Given the description of an element on the screen output the (x, y) to click on. 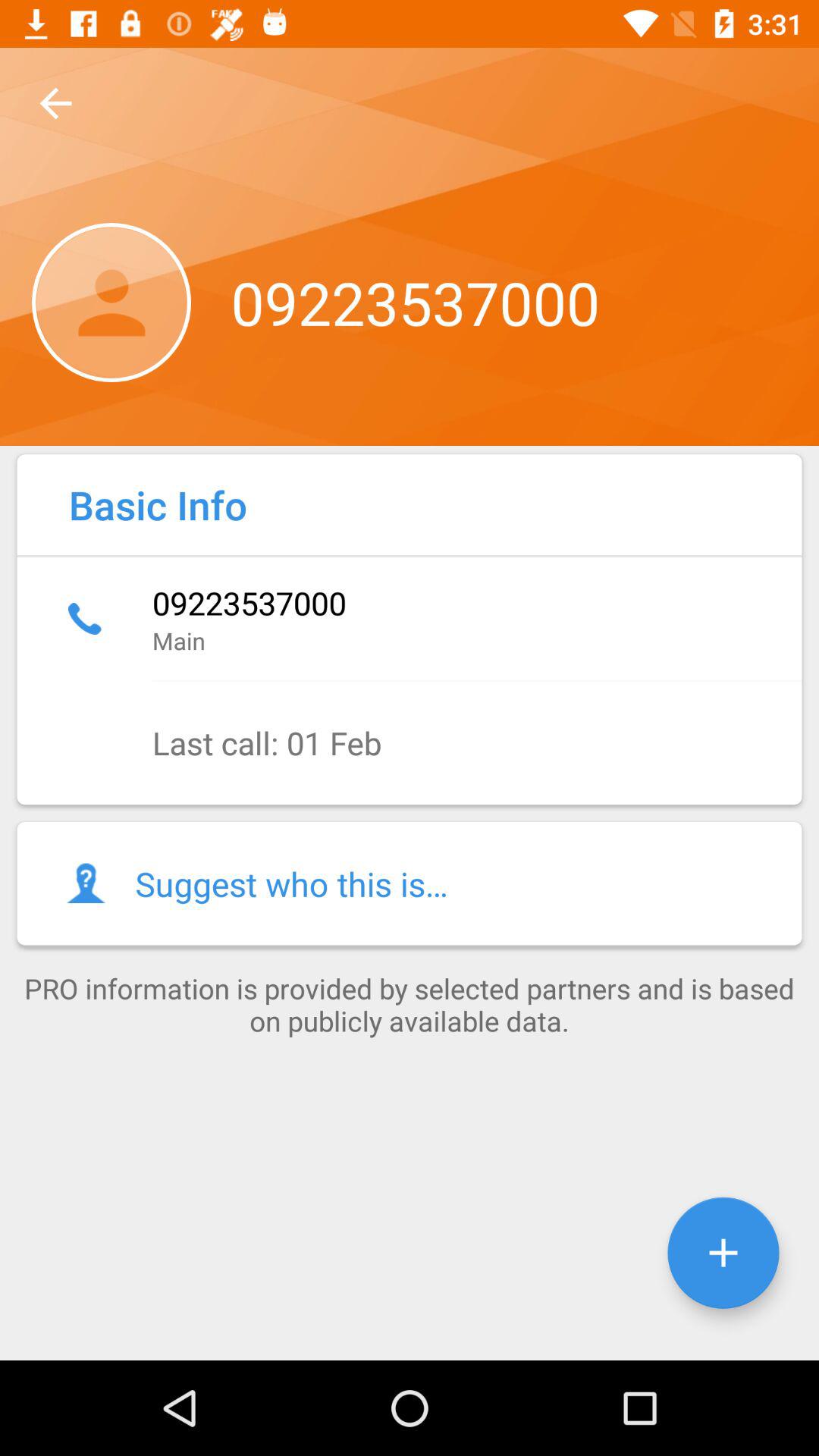
open icon below the pro information is (723, 1252)
